Given the description of an element on the screen output the (x, y) to click on. 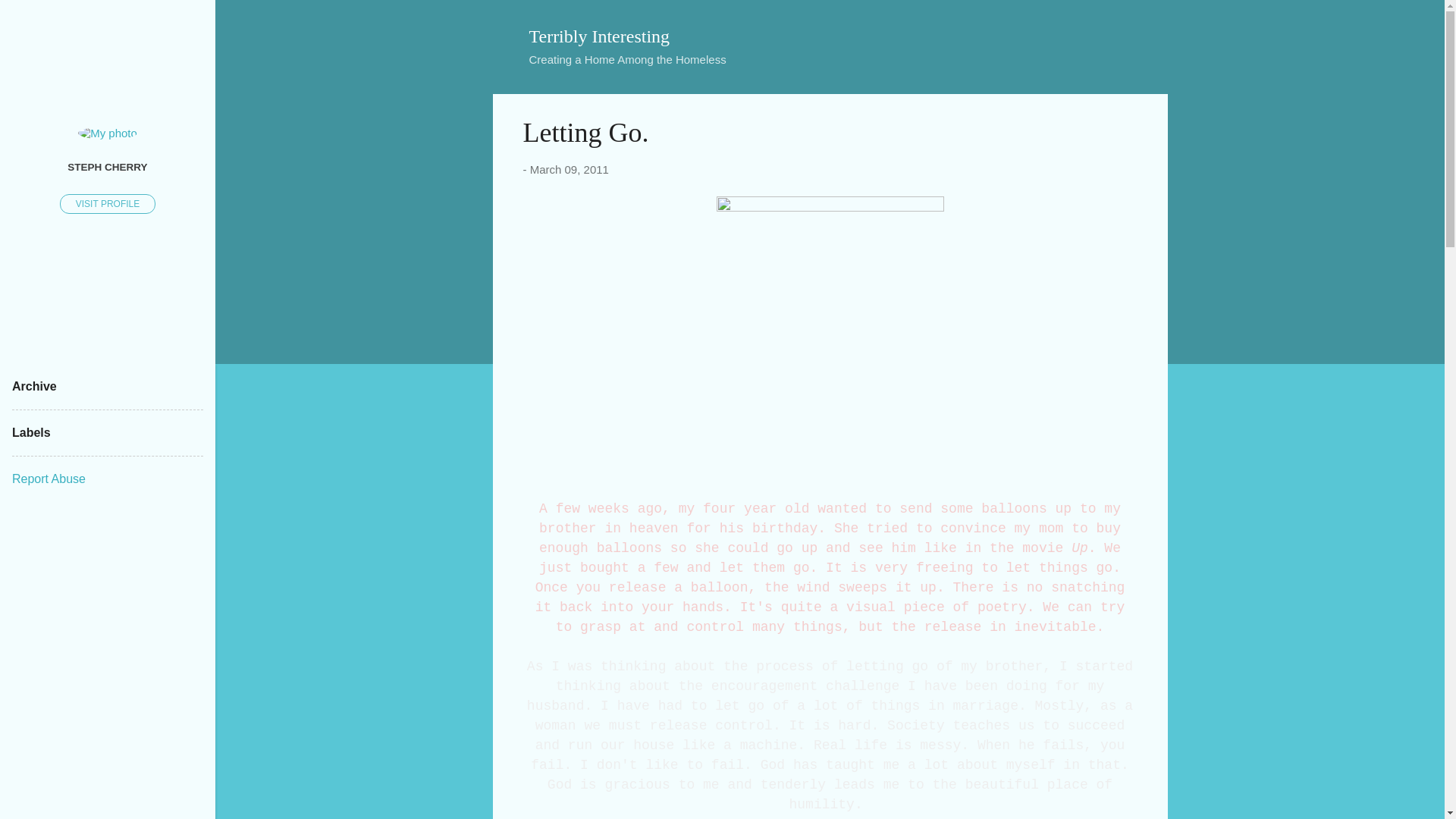
permanent link (568, 169)
Search (29, 18)
March 09, 2011 (568, 169)
Terribly Interesting (599, 35)
